Given the description of an element on the screen output the (x, y) to click on. 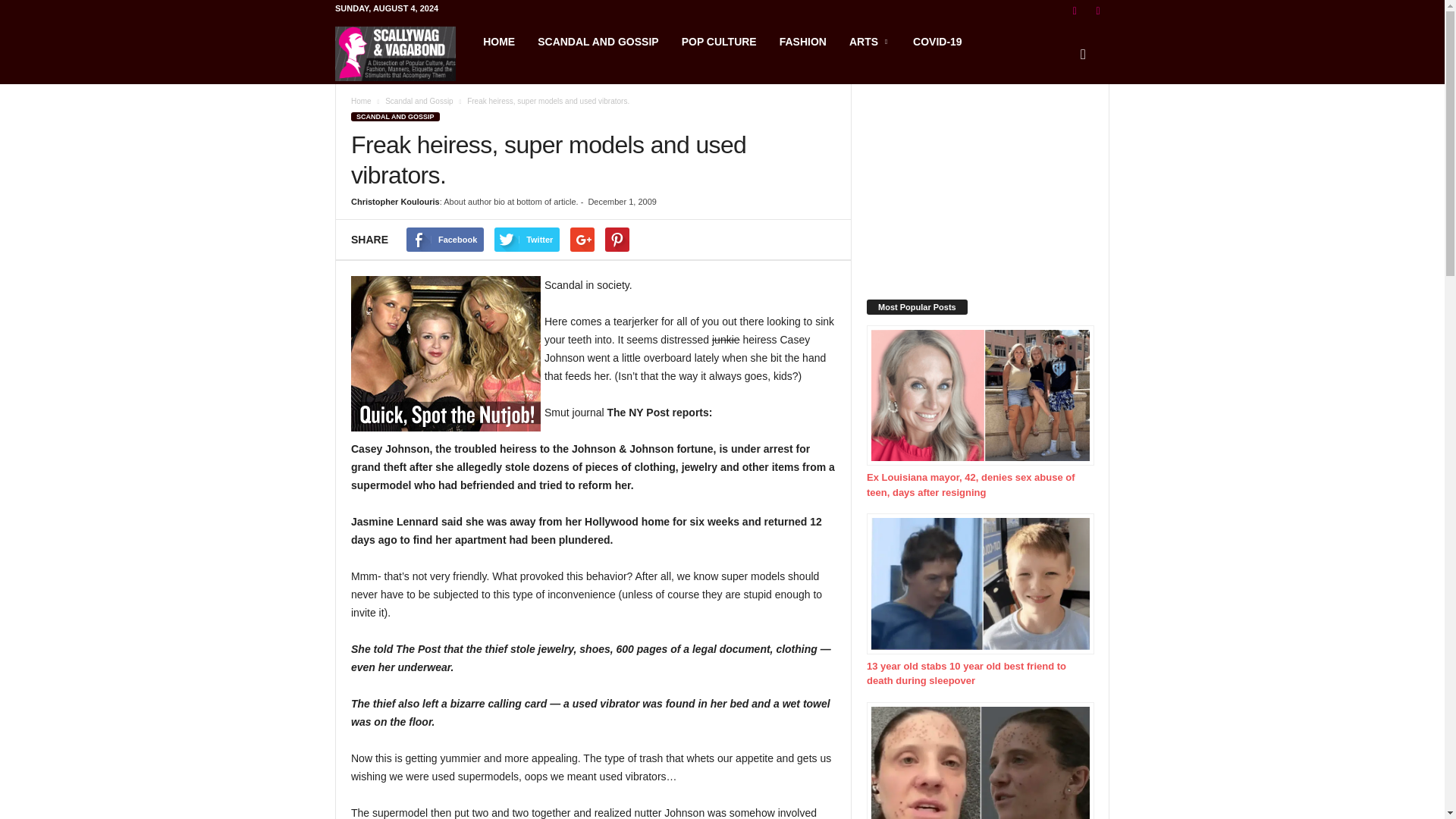
FASHION (803, 41)
POP CULTURE (718, 41)
Home (360, 101)
Scallywag and Vagabond (402, 52)
ARTS (869, 41)
HOME (498, 41)
nutjob2 (445, 353)
Twitter (527, 239)
SCANDAL AND GOSSIP (394, 116)
Facebook (444, 239)
Christopher Koulouris (394, 201)
COVID-19 (937, 41)
Scandal and Gossip (418, 101)
SCANDAL AND GOSSIP (597, 41)
